Given the description of an element on the screen output the (x, y) to click on. 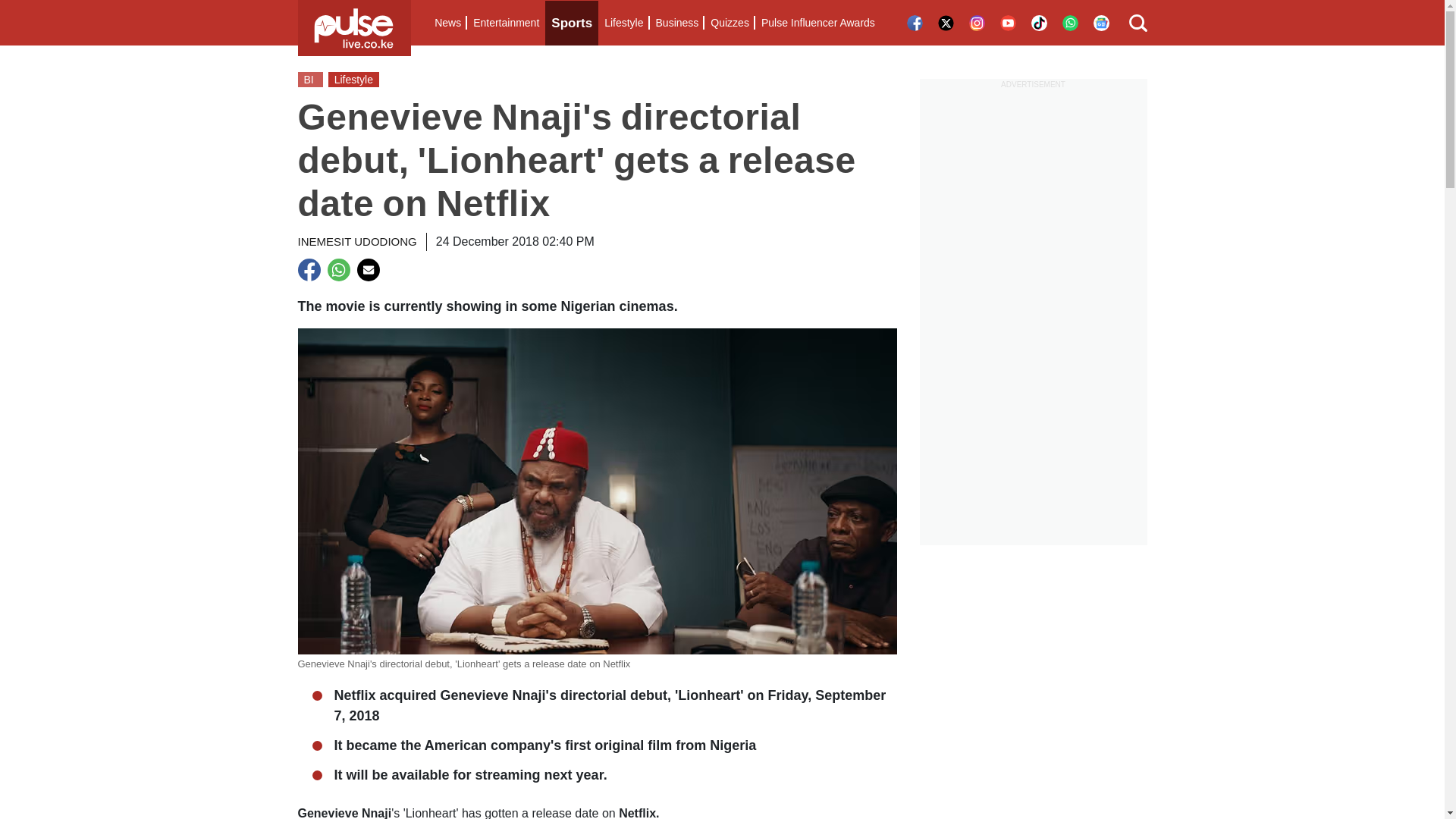
Sports (571, 22)
Pulse Influencer Awards (817, 22)
Lifestyle (623, 22)
Entertainment (505, 22)
Quizzes (729, 22)
Business (676, 22)
